Given the description of an element on the screen output the (x, y) to click on. 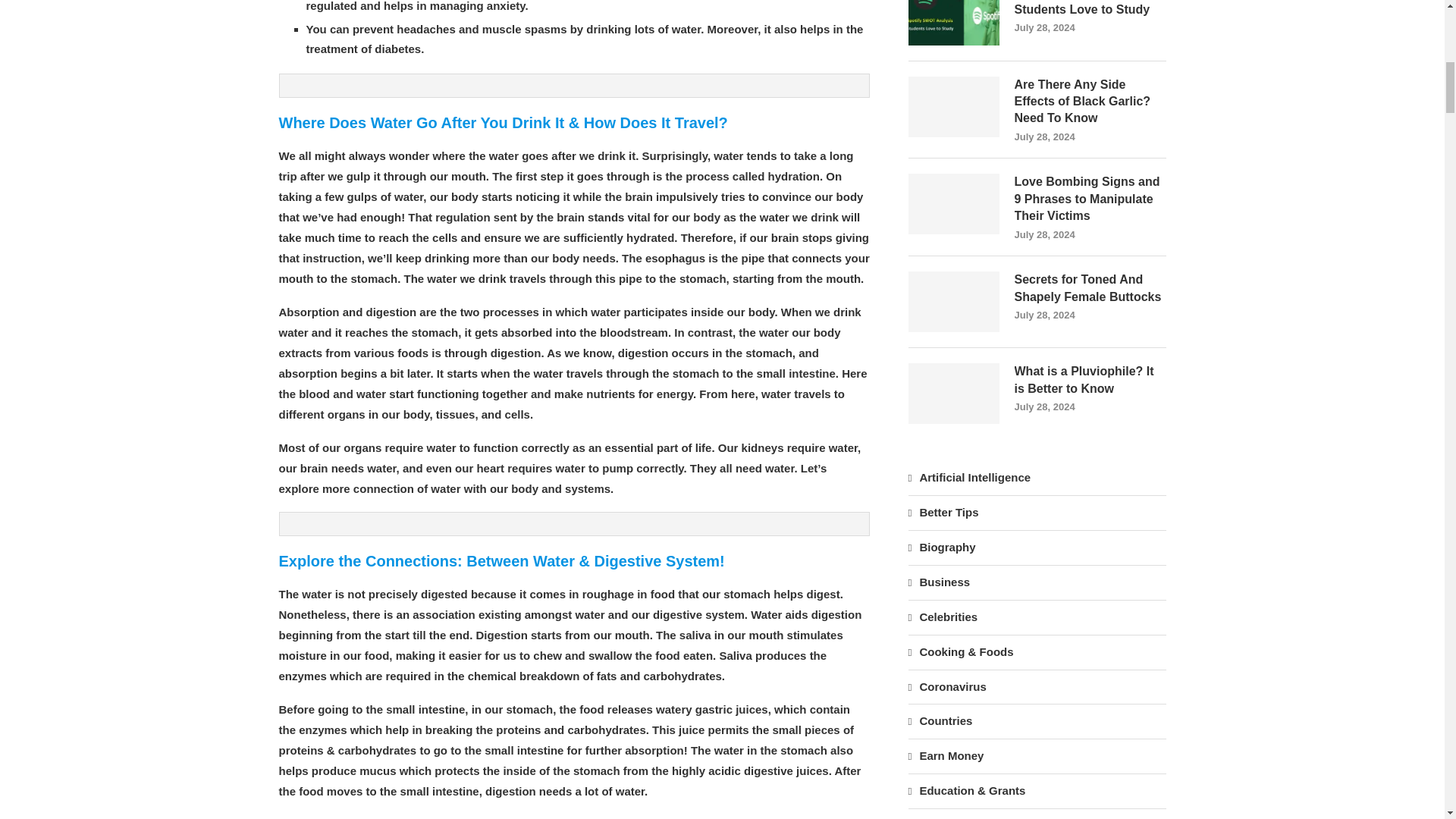
Are There Any Side Effects of Black Garlic? Need To Know (953, 106)
Love Bombing Signs and 9 Phrases to Manipulate Their Victims (1090, 198)
Are There Any Side Effects of Black Garlic? Need To Know (1090, 101)
Love Bombing Signs and 9 Phrases to Manipulate Their Victims (953, 203)
